Given the description of an element on the screen output the (x, y) to click on. 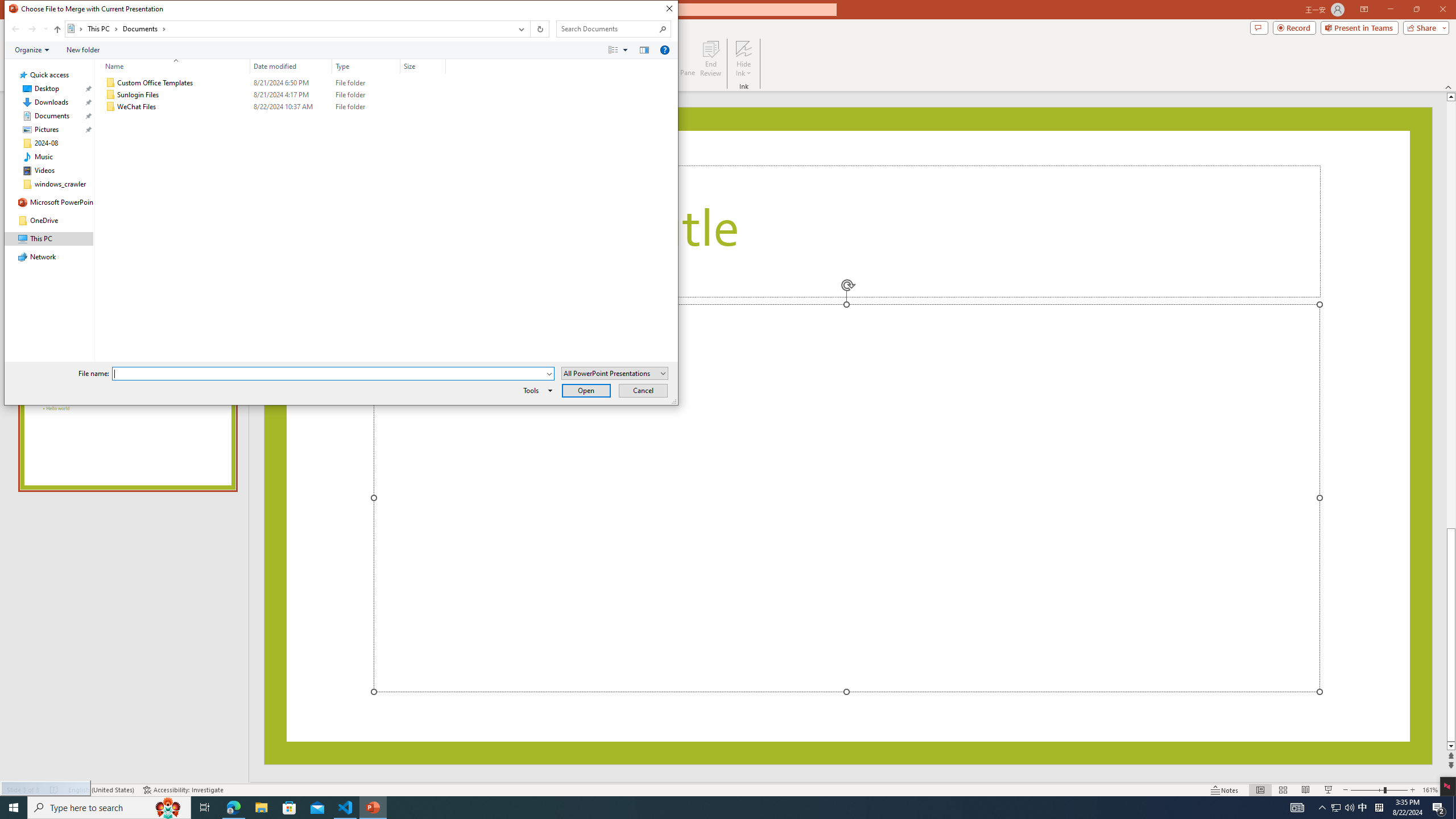
Open (586, 390)
WeChat Files (273, 106)
Files of type: (615, 373)
Start (13, 807)
Class: UIImage (111, 106)
Views (620, 49)
Notification Chevron (1322, 807)
Running applications (707, 807)
Cancel (643, 390)
File name: (329, 373)
